Given the description of an element on the screen output the (x, y) to click on. 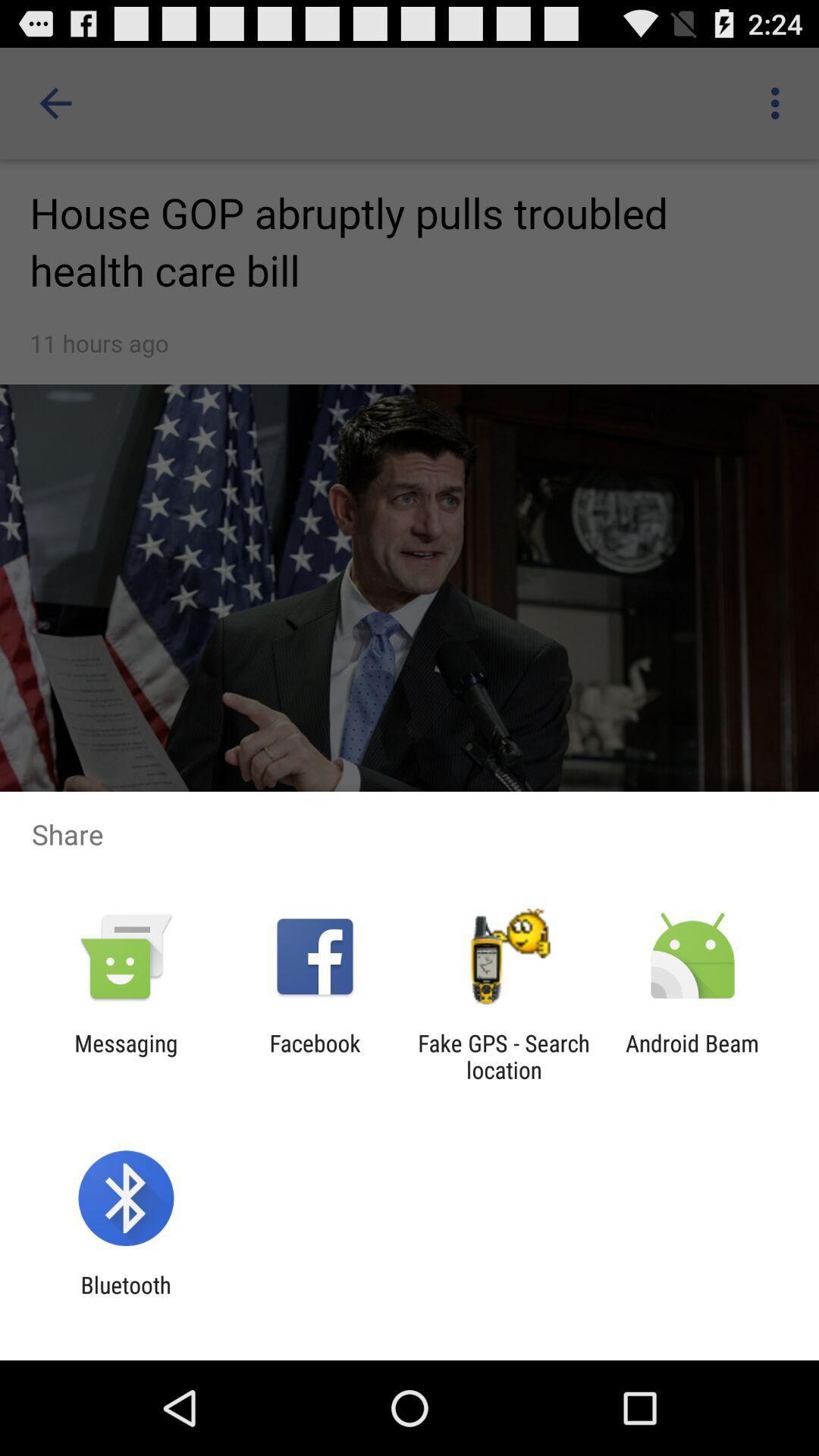
swipe to fake gps search (503, 1056)
